Given the description of an element on the screen output the (x, y) to click on. 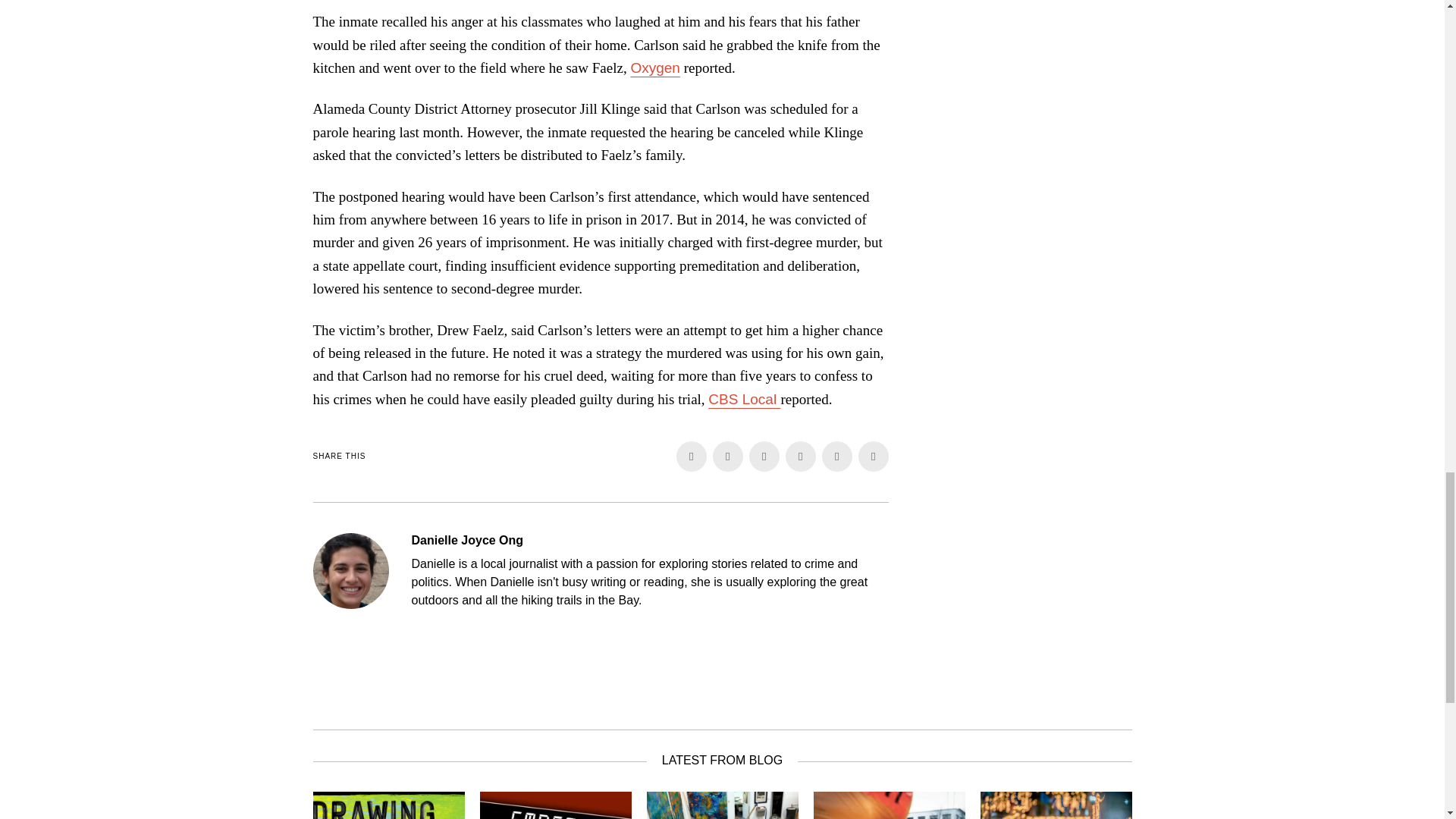
CBS Local (743, 399)
Oxygen (654, 67)
